Given the description of an element on the screen output the (x, y) to click on. 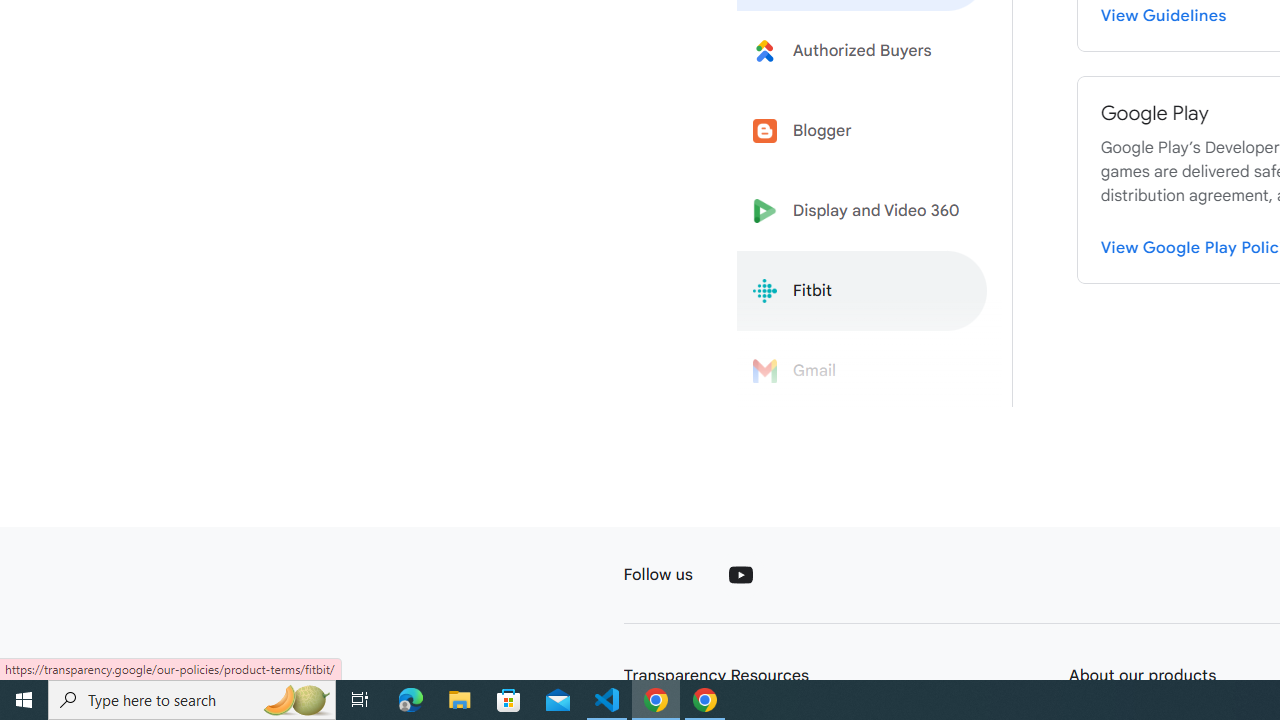
YouTube (740, 574)
Display and Video 360 (862, 211)
Blogger (862, 130)
Gmail (862, 371)
Display and Video 360 (862, 211)
Blogger (862, 130)
Learn more about Authorized Buyers (862, 50)
Fitbit (862, 291)
Gmail (862, 371)
Fitbit (862, 291)
Learn more about Authorized Buyers (862, 50)
